Given the description of an element on the screen output the (x, y) to click on. 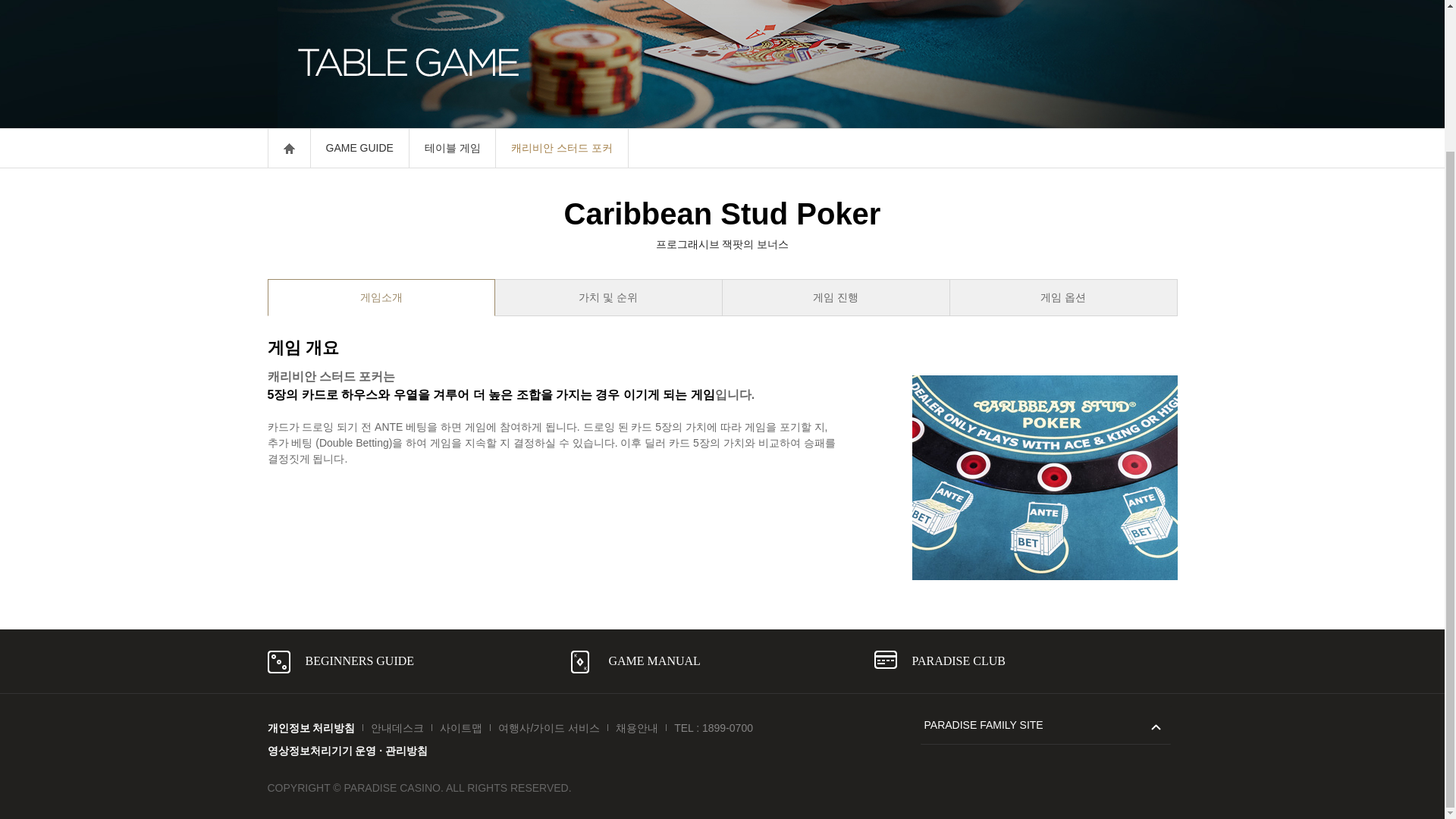
GAME GUIDE (357, 147)
PARADISE FAMILY SITE (1044, 724)
PARADISE FAMILY SITE (1044, 724)
